Given the description of an element on the screen output the (x, y) to click on. 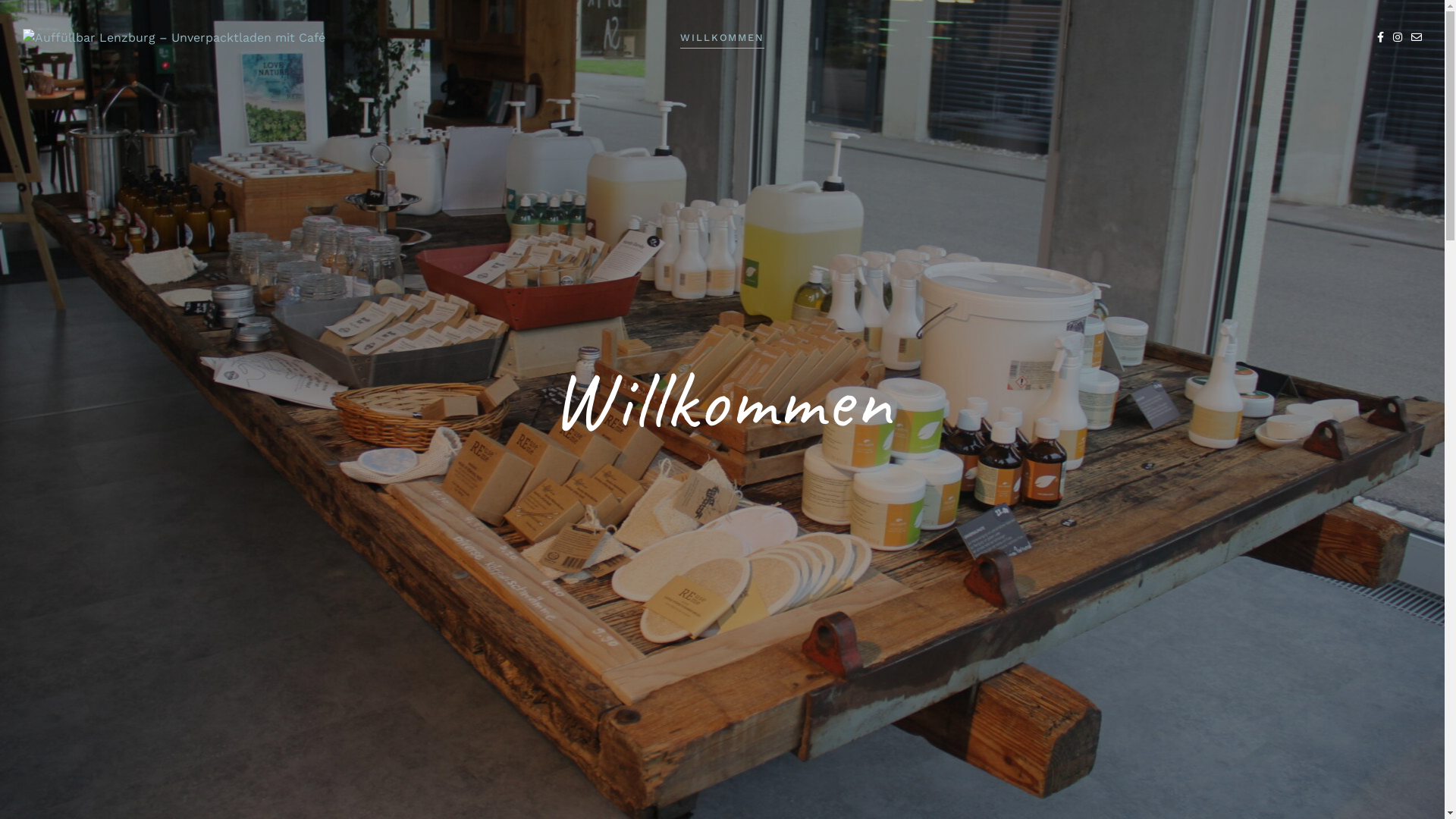
WILLKOMMEN Element type: text (722, 37)
